Given the description of an element on the screen output the (x, y) to click on. 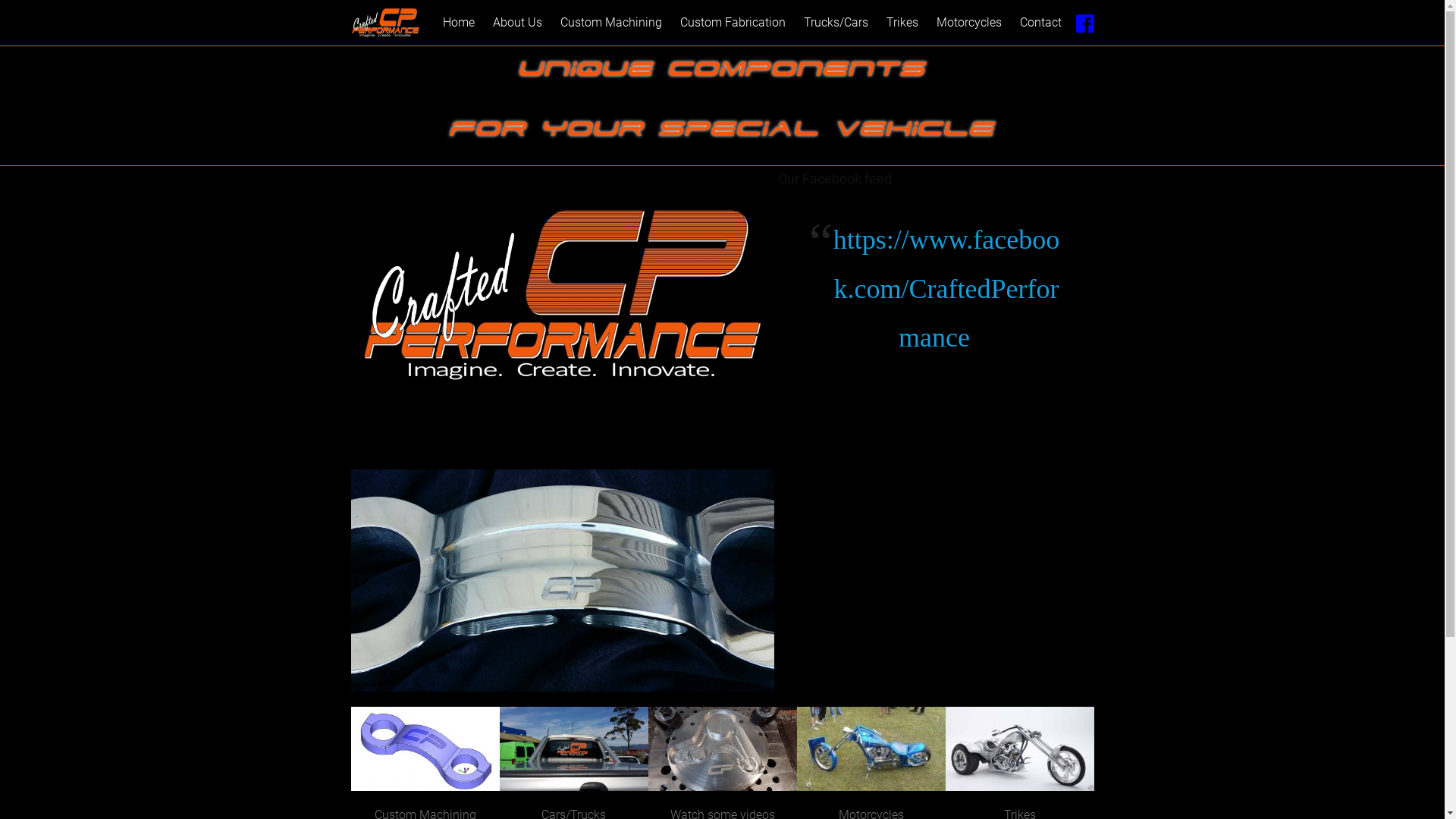
https://www.facebook.com/CraftedPerformance Element type: text (946, 288)
Custom Machining Element type: text (610, 22)
Motorcycles Element type: text (968, 22)
Home Element type: text (458, 22)
Follow Us on Facebook Element type: hover (1084, 22)
Custom Fabrication Element type: text (732, 22)
About Us Element type: text (517, 22)
Trucks/Cars Element type: text (835, 22)
Contact Element type: text (1040, 22)
Trikes Element type: text (901, 22)
